Given the description of an element on the screen output the (x, y) to click on. 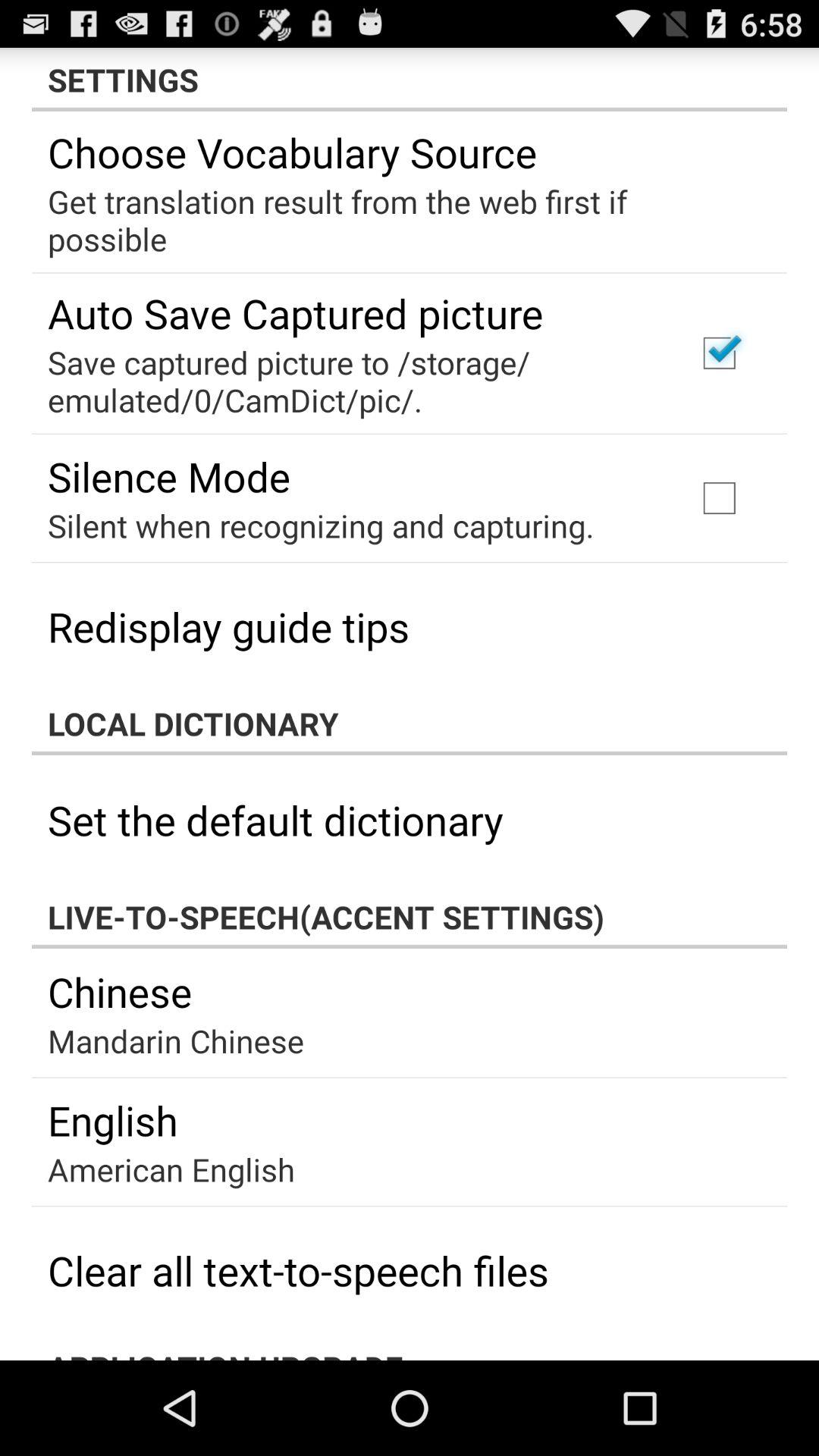
scroll until the redisplay guide tips (228, 626)
